Given the description of an element on the screen output the (x, y) to click on. 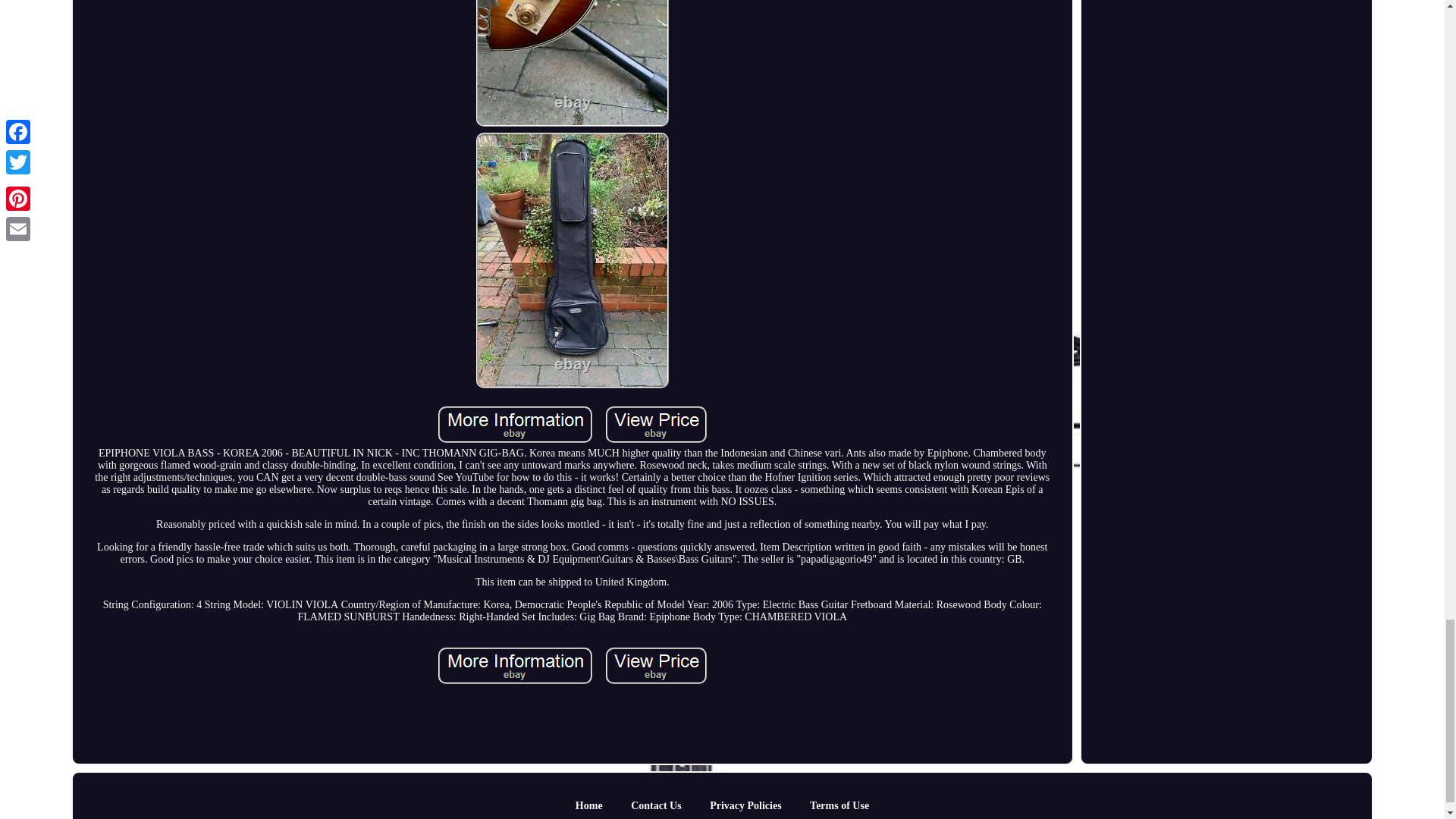
Epiphone Viola Bass 2006 Korea Beautiful Condition Gig Bag (572, 63)
Epiphone Viola Bass 2006 Korea Beautiful Condition Gig Bag (655, 424)
Epiphone Viola Bass 2006 Korea Beautiful Condition Gig Bag (515, 665)
Epiphone Viola Bass 2006 Korea Beautiful Condition Gig Bag (515, 424)
Epiphone Viola Bass 2006 Korea Beautiful Condition Gig Bag (655, 665)
